Given the description of an element on the screen output the (x, y) to click on. 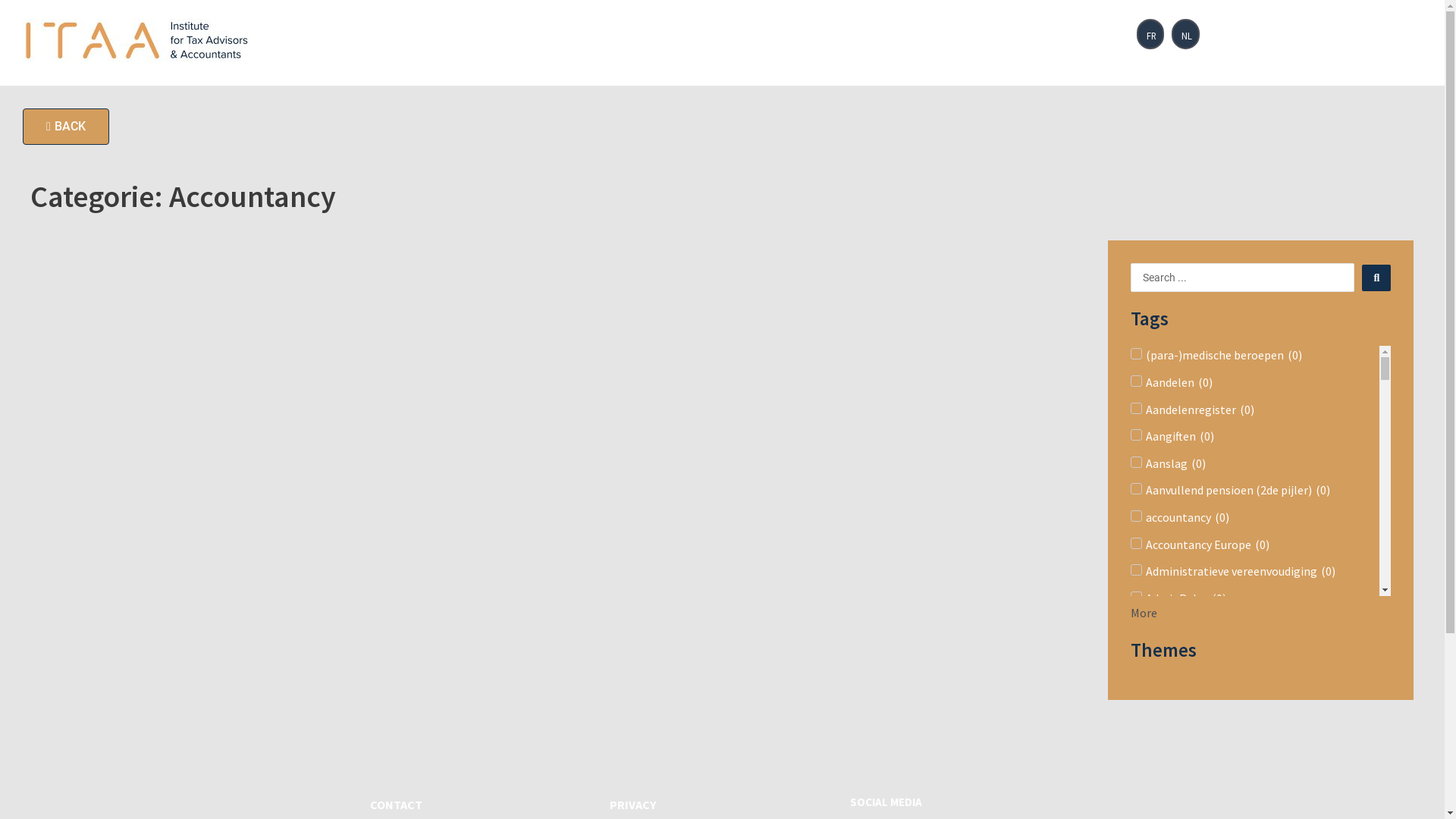
CONTACT Element type: text (396, 804)
FR Element type: text (1150, 33)
BACK Element type: text (65, 126)
NL Element type: text (1185, 33)
